Given the description of an element on the screen output the (x, y) to click on. 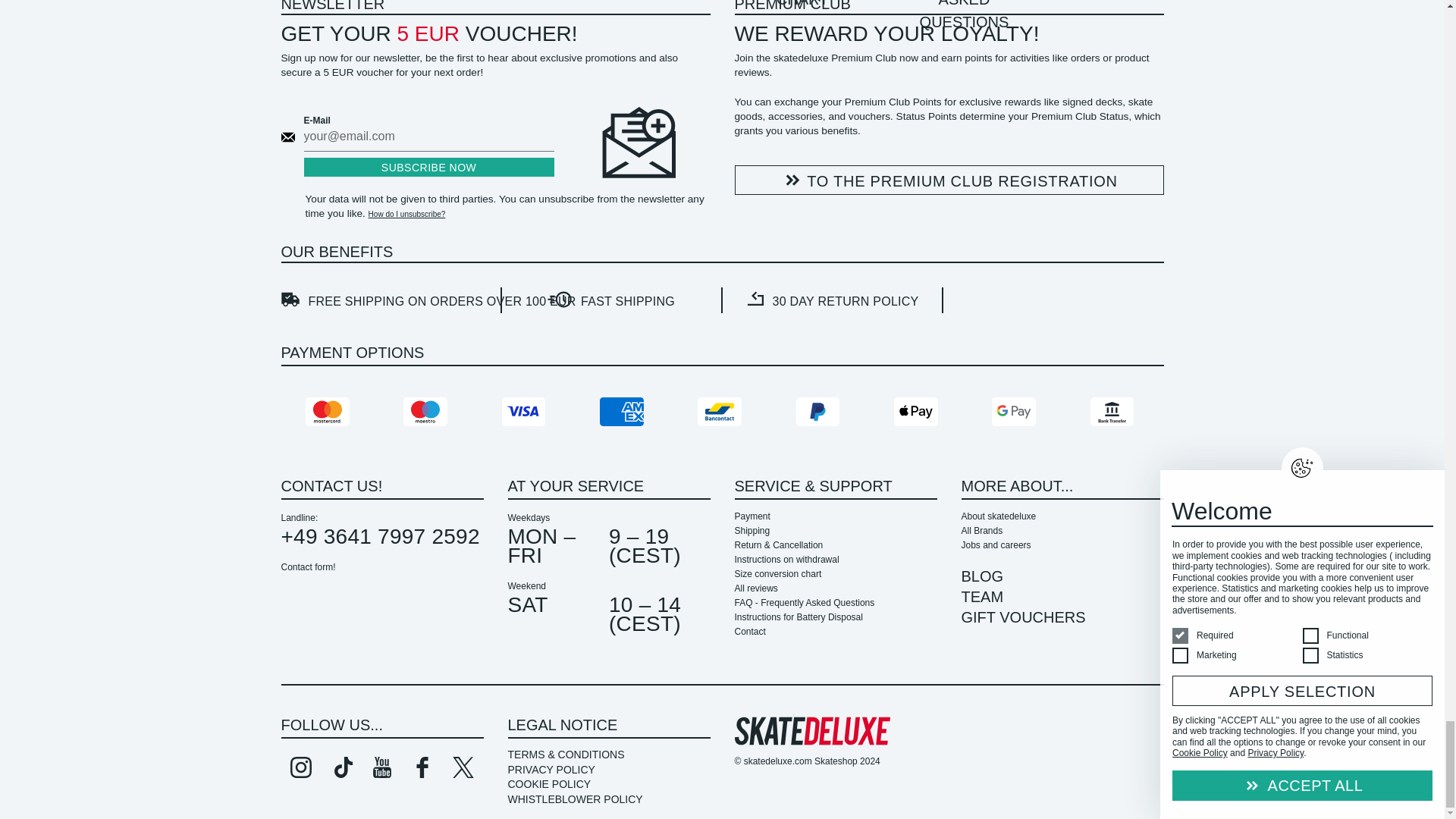
30 DAY RETURN POLICY (832, 299)
FAST SHIPPING (612, 299)
FREE SHIPPING ON ORDERS OVER 100 EUR (390, 299)
Maestro (427, 411)
FREE SHIPPING ON ORDERS OVER 100 EUR (390, 299)
Mastercard (329, 411)
fastest Skateshop (611, 299)
